Given the description of an element on the screen output the (x, y) to click on. 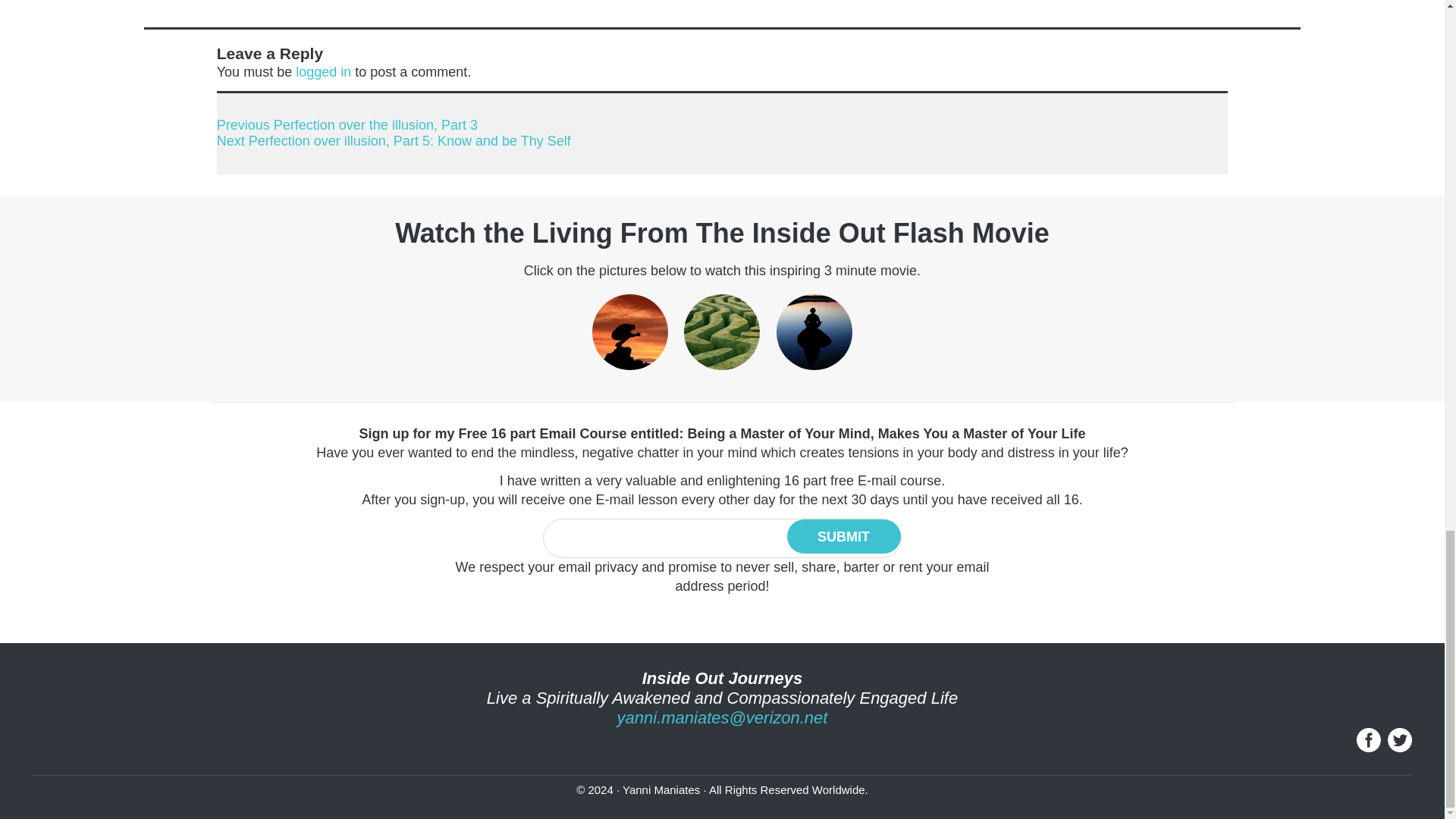
Submit (844, 536)
Submit (844, 536)
logged in (322, 71)
